Given the description of an element on the screen output the (x, y) to click on. 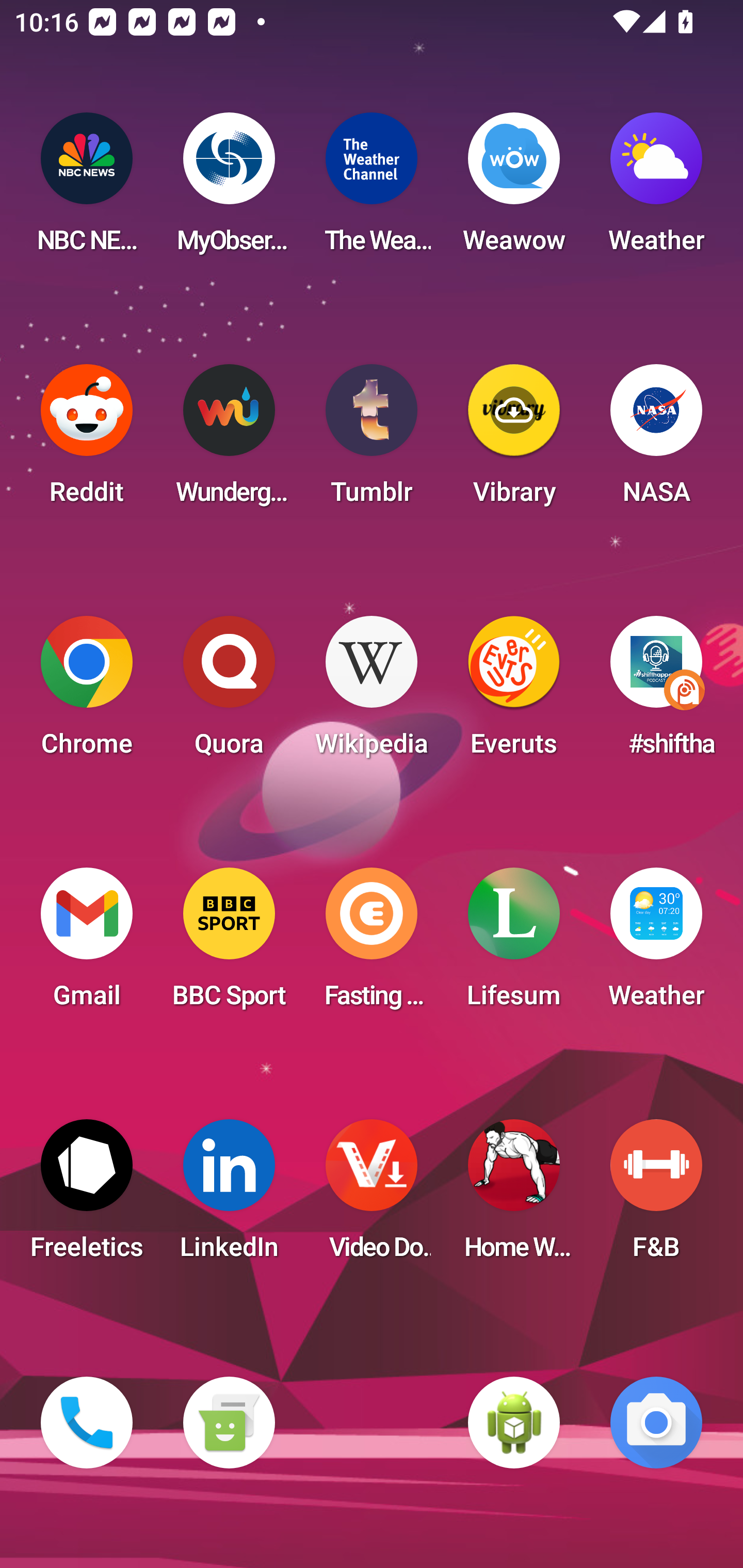
NBC NEWS (86, 188)
MyObservatory (228, 188)
The Weather Channel (371, 188)
Weawow (513, 188)
Weather (656, 188)
Reddit (86, 440)
Wunderground (228, 440)
Tumblr (371, 440)
Vibrary (513, 440)
NASA (656, 440)
Chrome (86, 692)
Quora (228, 692)
Wikipedia (371, 692)
Everuts (513, 692)
#shifthappens in the Digital Workplace Podcast (656, 692)
Gmail (86, 943)
BBC Sport (228, 943)
Fasting Coach (371, 943)
Lifesum (513, 943)
Weather (656, 943)
Freeletics (86, 1195)
LinkedIn (228, 1195)
Video Downloader & Ace Player (371, 1195)
Home Workout (513, 1195)
F&B (656, 1195)
Phone (86, 1422)
Messaging (228, 1422)
WebView Browser Tester (513, 1422)
Camera (656, 1422)
